Given the description of an element on the screen output the (x, y) to click on. 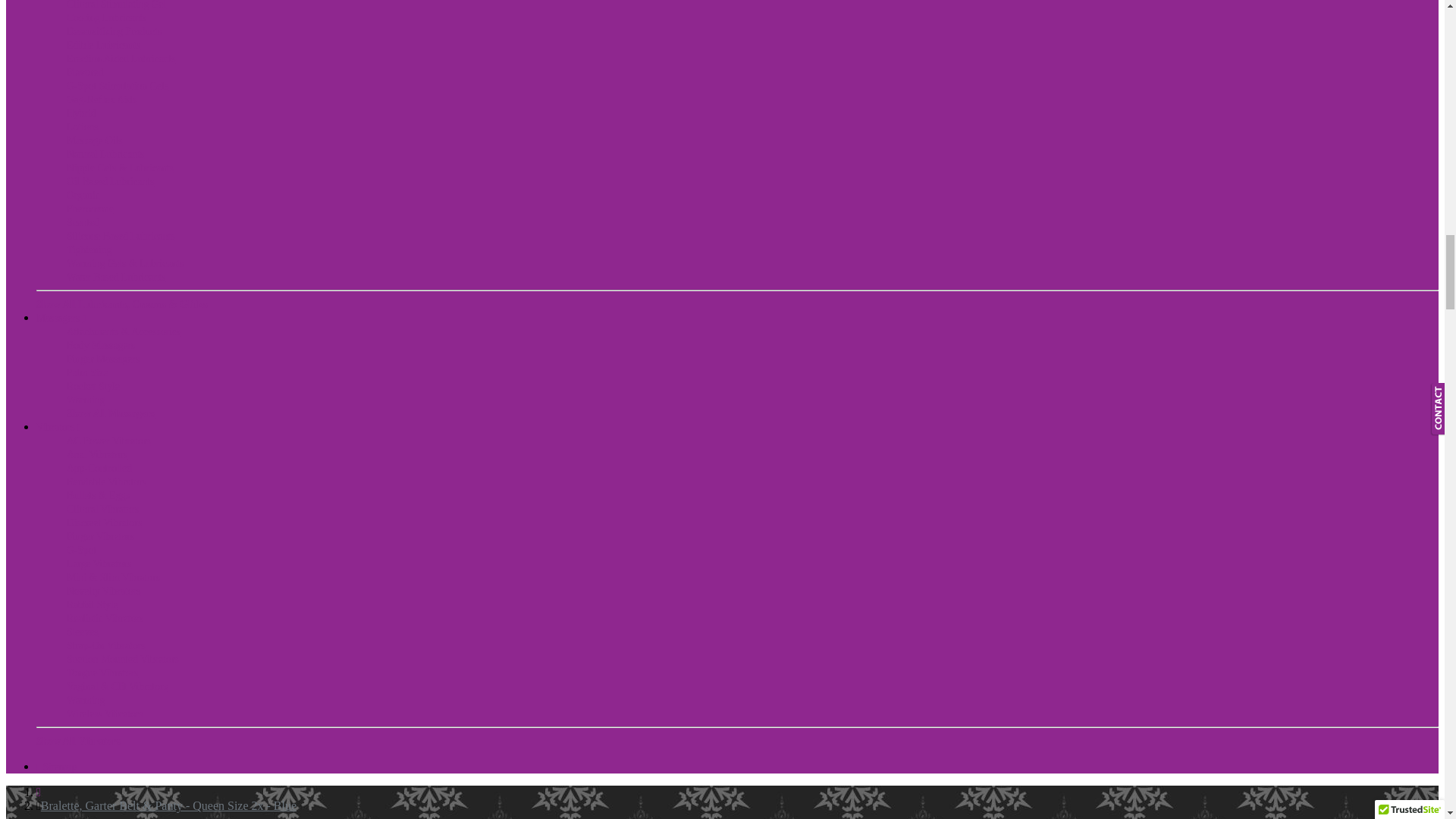
Sitemap (56, 767)
